Given the description of an element on the screen output the (x, y) to click on. 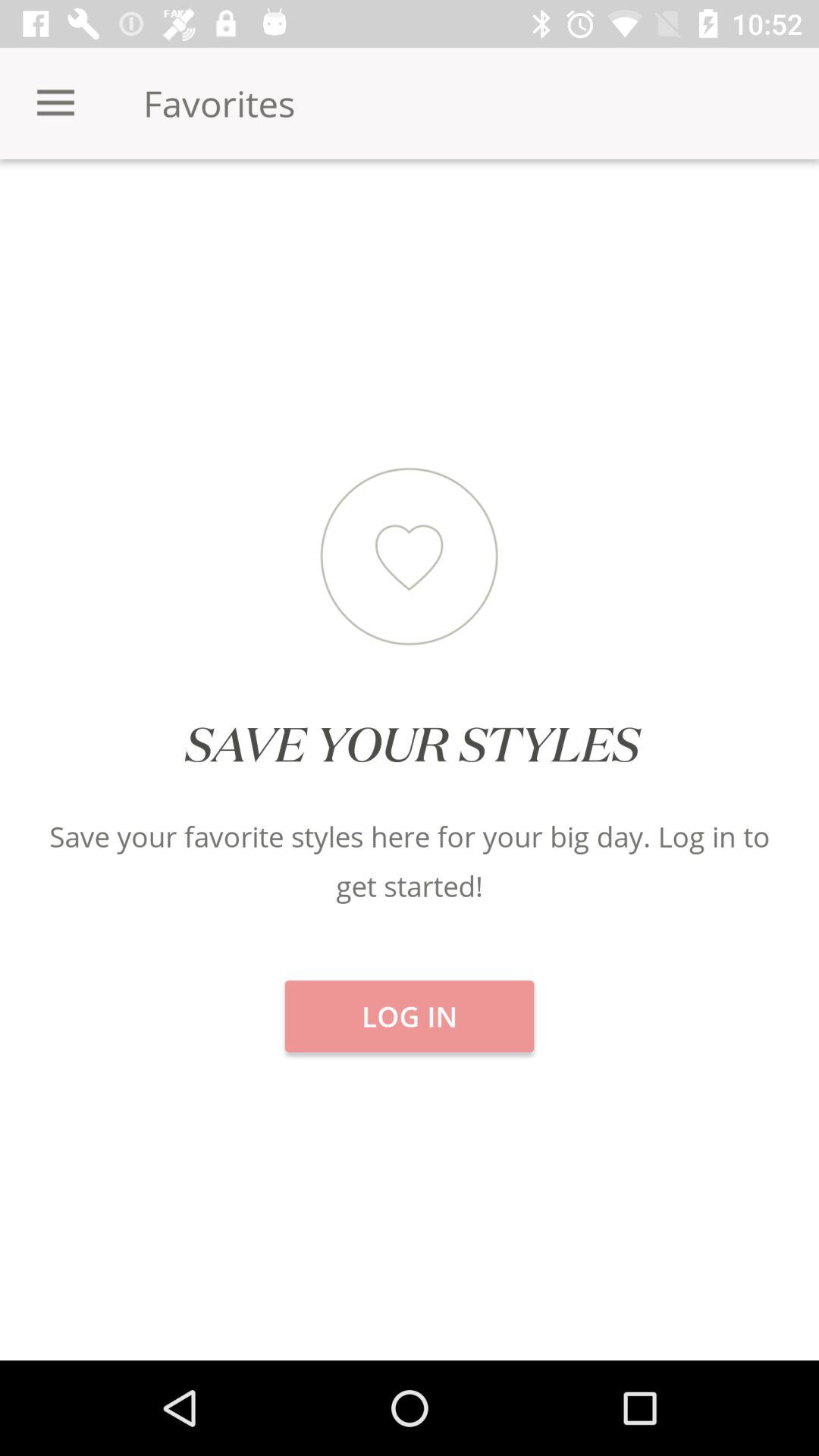
turn on the item to the left of featured icon (136, 212)
